Given the description of an element on the screen output the (x, y) to click on. 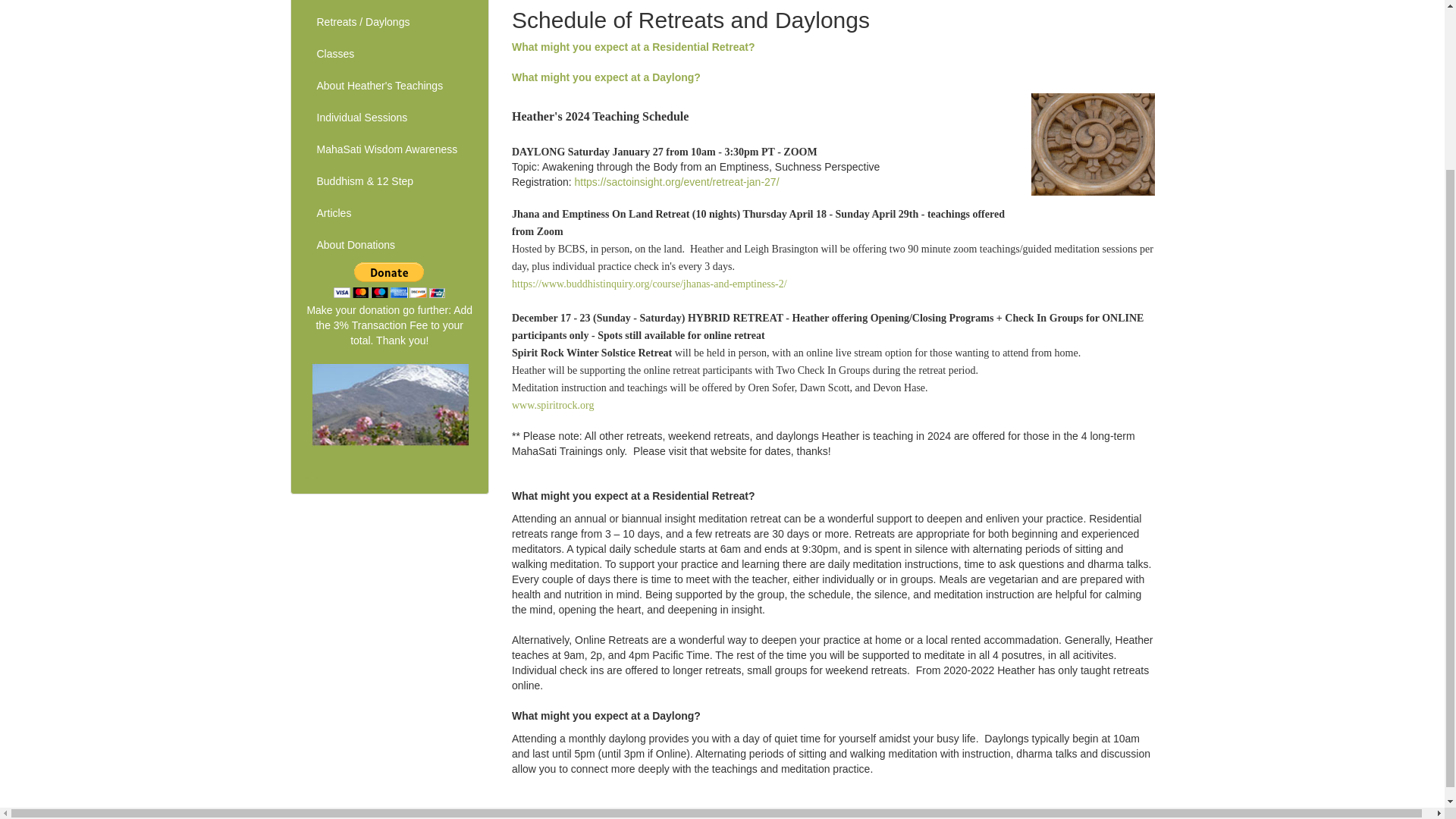
www.spiritrock.org (553, 405)
What might you expect at a Residential Retreat? (633, 46)
Articles (389, 214)
What might you expect at a Daylong? (606, 77)
Classes (389, 54)
MahaSati Wisdom Awareness (389, 150)
PayPal - The safer, easier way to pay online! (389, 280)
About Heather's Teachings (389, 86)
About Donations (389, 245)
Individual Sessions (389, 118)
